Given the description of an element on the screen output the (x, y) to click on. 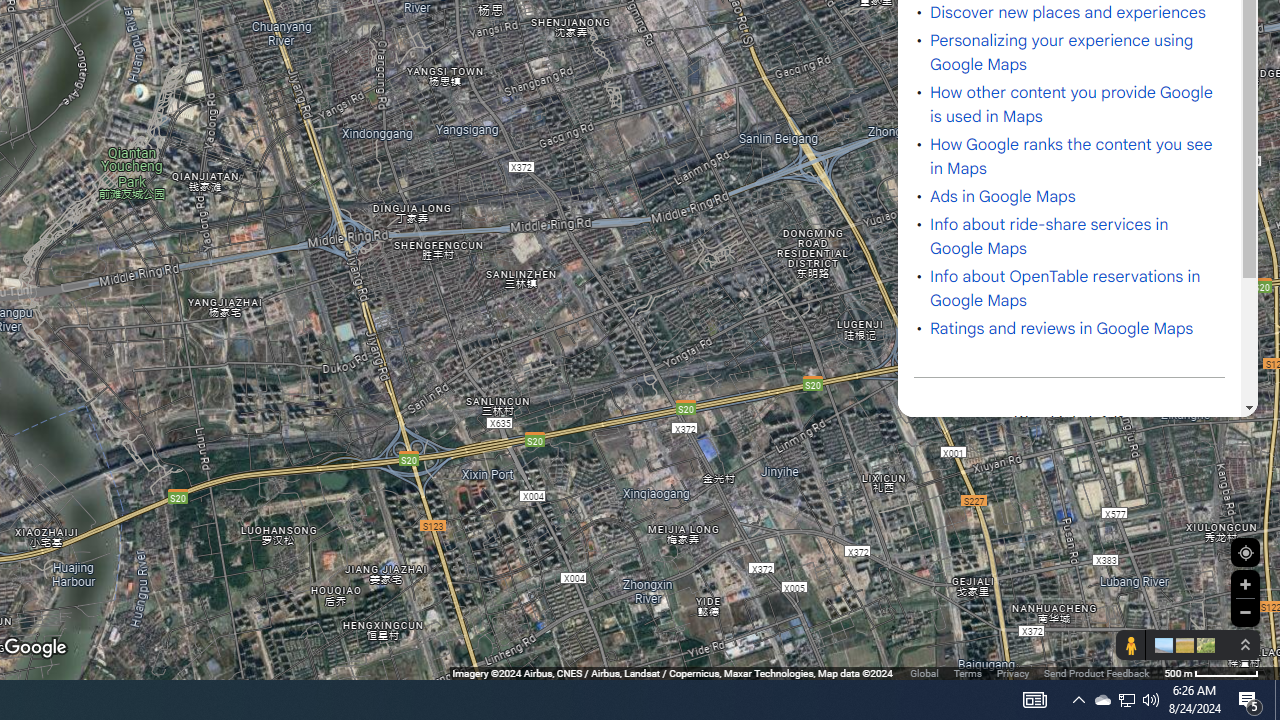
Info about ride-share services in Google Maps (1049, 237)
How other content you provide Google is used in Maps (1071, 104)
Show Street View coverage (1130, 645)
Show imagery (1202, 645)
Send Product Feedback (1096, 672)
Ads in Google Maps (1003, 197)
Personalizing your experience using Google Maps (1062, 52)
Discover new places and experiences (1067, 12)
Zoom in (1245, 584)
Zoom out (1245, 612)
Ratings and reviews in Google Maps (1062, 328)
500 m (1211, 672)
Global (924, 672)
